Given the description of an element on the screen output the (x, y) to click on. 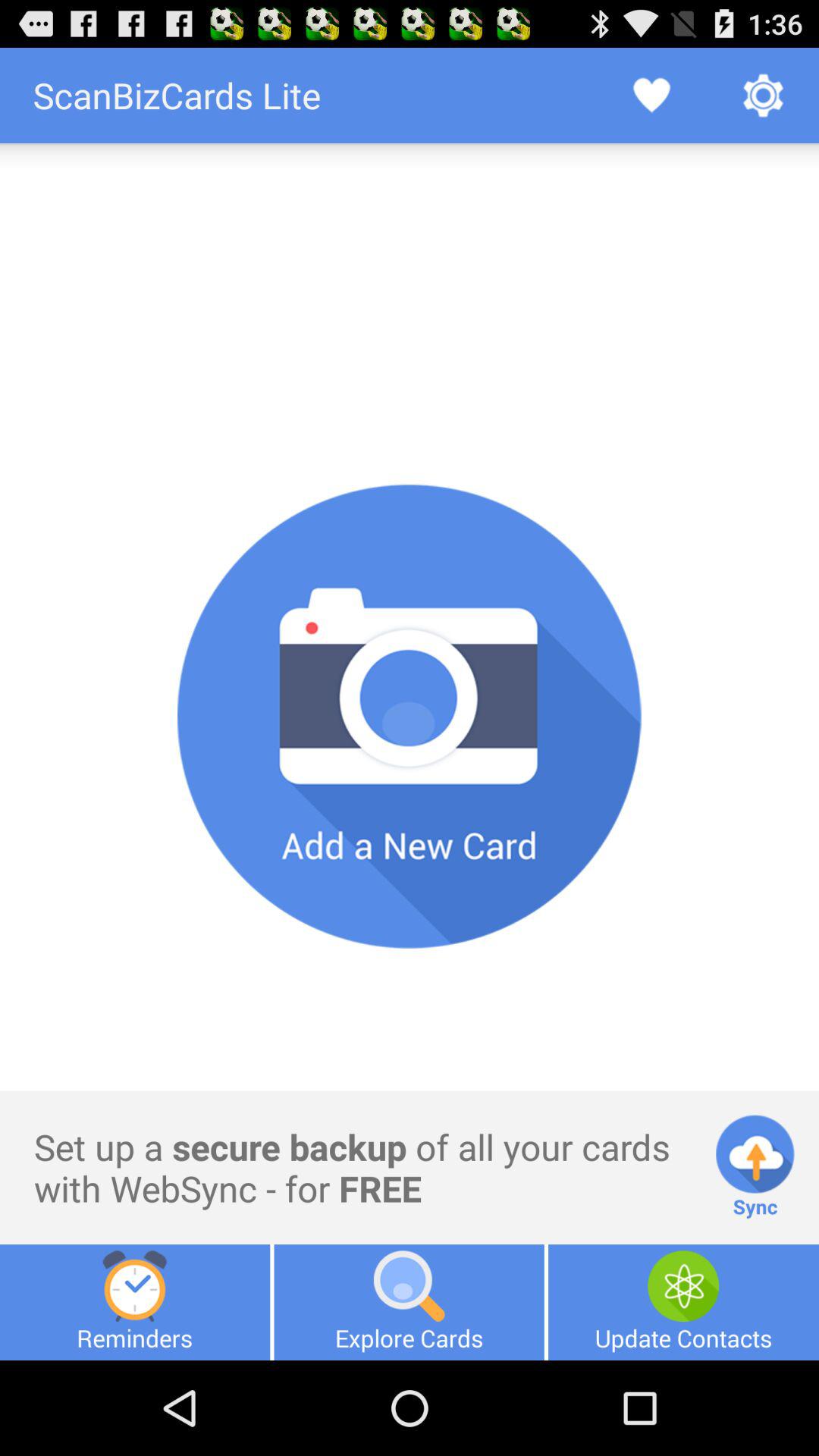
turn off the icon below the sync icon (683, 1302)
